Given the description of an element on the screen output the (x, y) to click on. 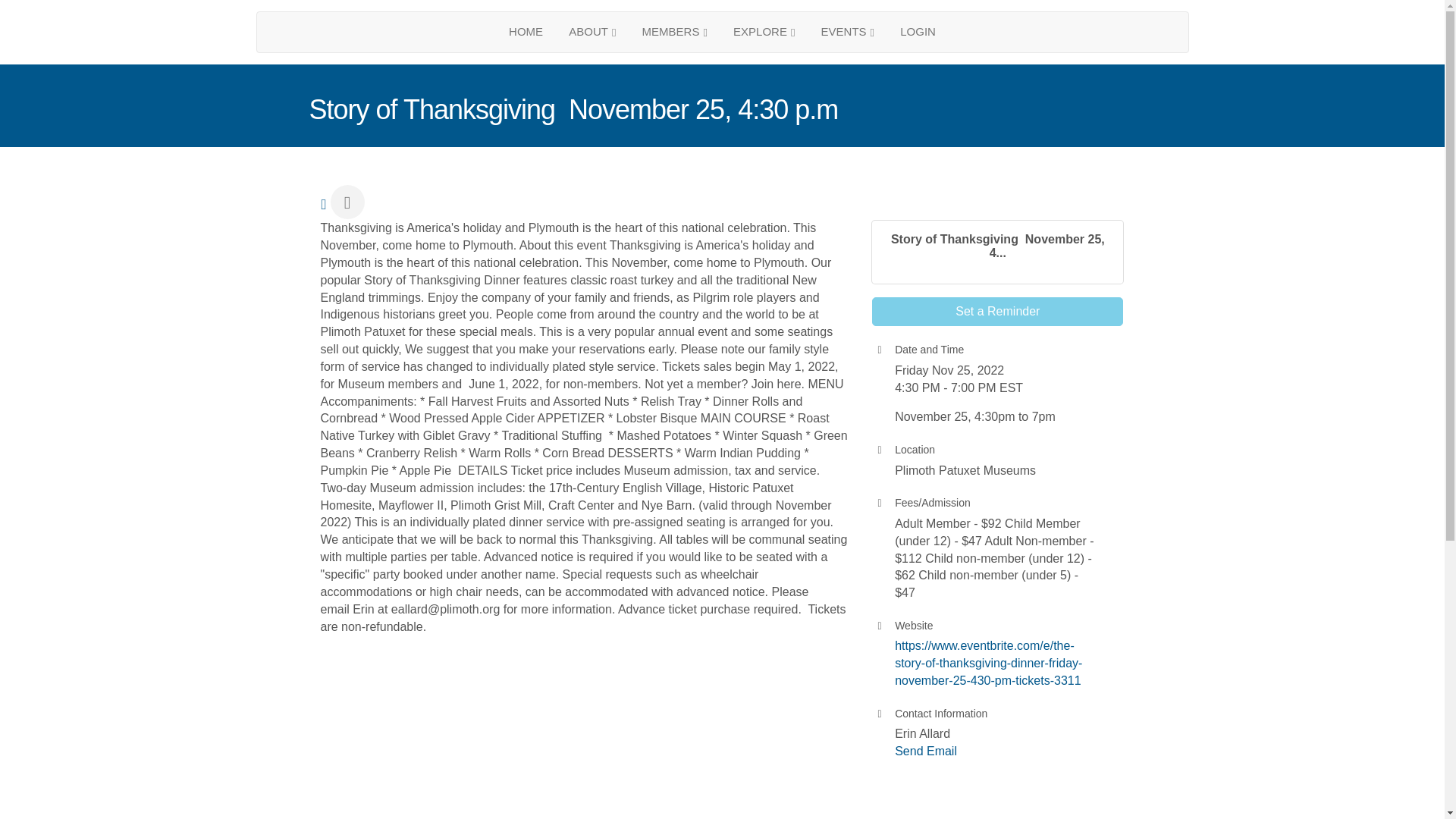
HOME (525, 31)
ABOUT (592, 32)
MEMBERS (674, 32)
